Given the description of an element on the screen output the (x, y) to click on. 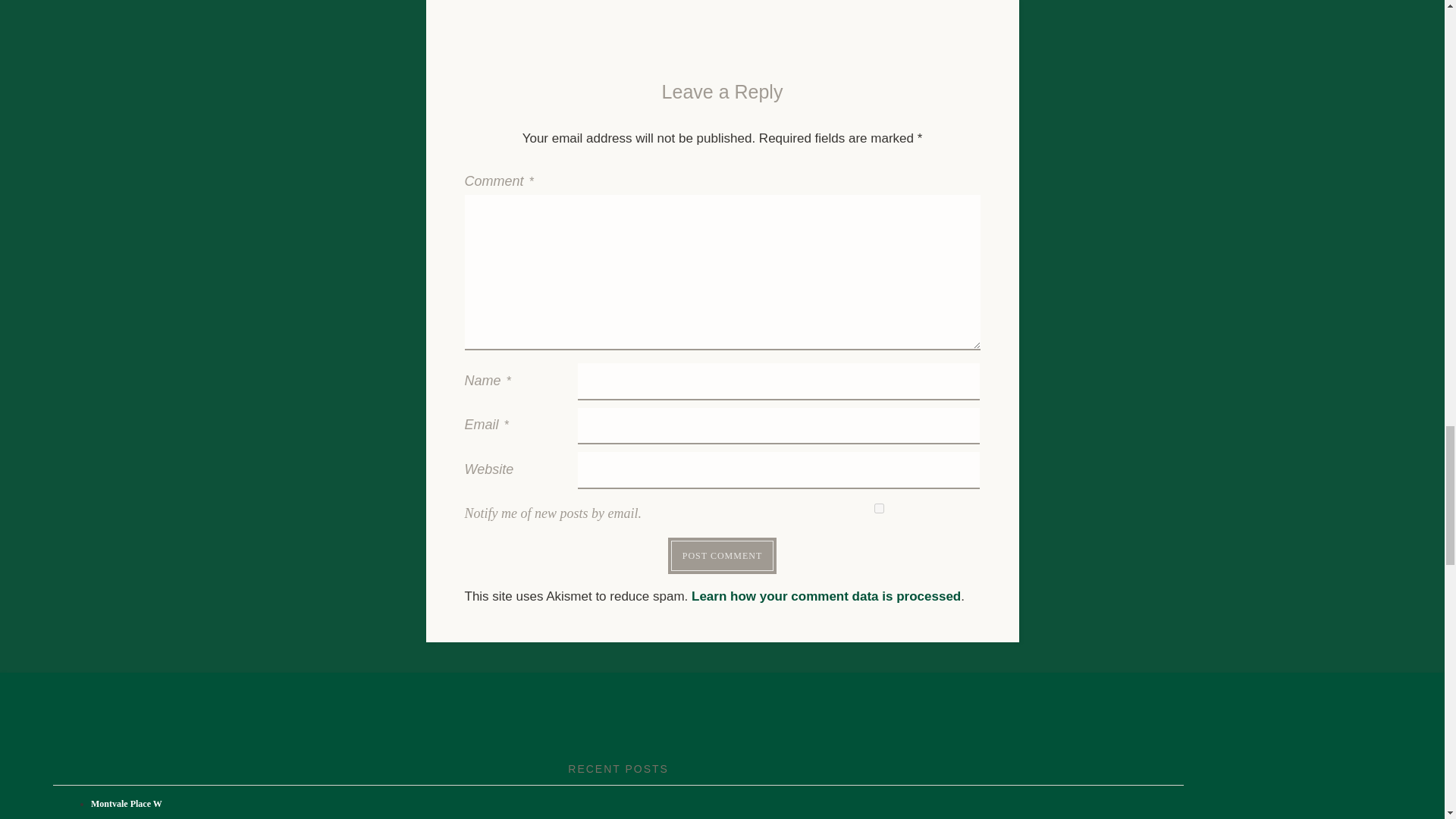
subscribe (879, 508)
Post Comment (722, 555)
